Given the description of an element on the screen output the (x, y) to click on. 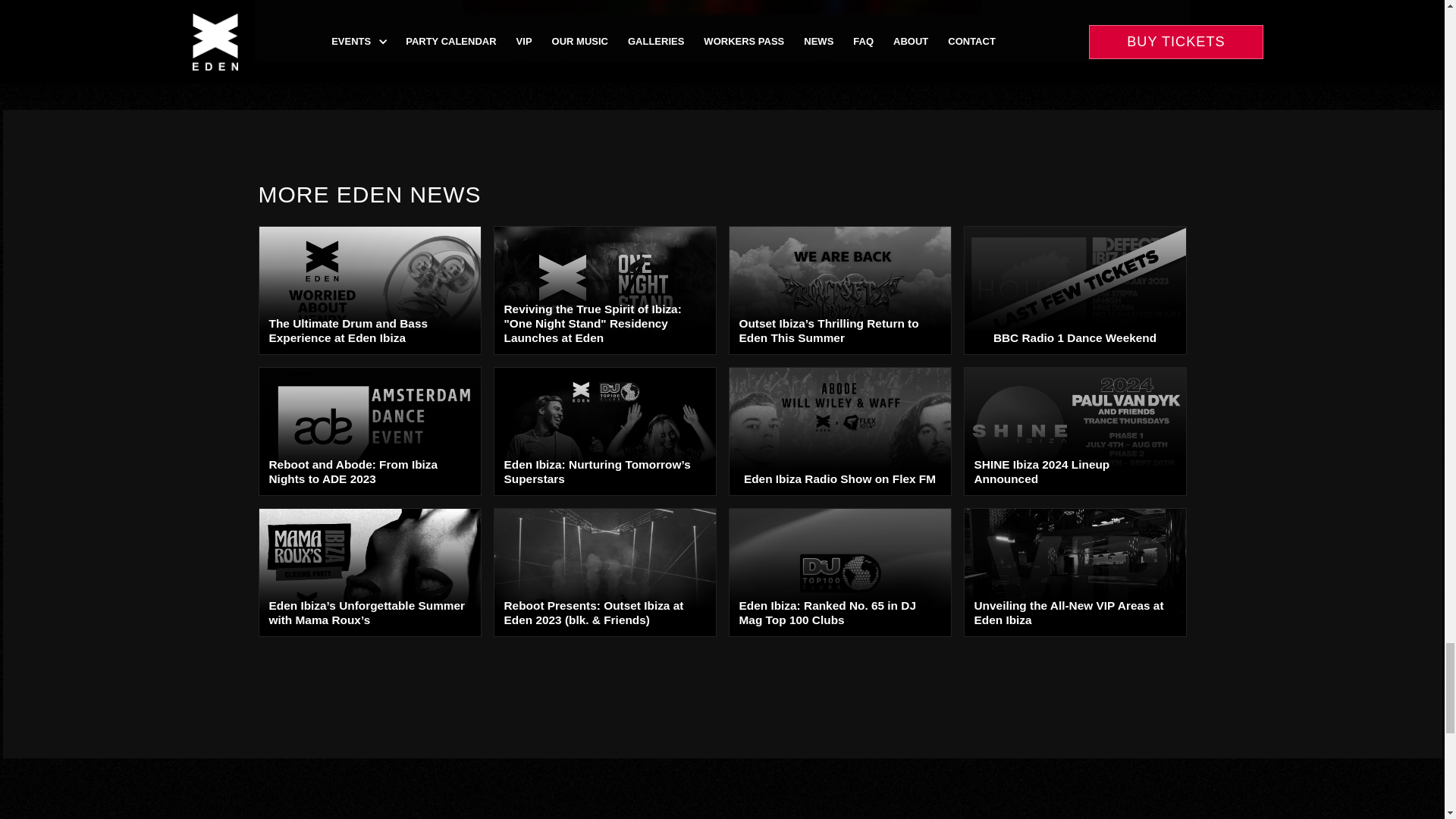
Eden Ibiza: Ranked No. 65 in DJ Mag Top 100 Clubs (839, 572)
The Ultimate Drum and Bass Experience at Eden Ibiza (368, 290)
Eden Ibiza Radio Show on Flex FM (839, 431)
BBC Radio 1 Dance Weekend (1074, 290)
Reboot and Abode: From Ibiza Nights to ADE 2023 (368, 431)
SHINE Ibiza 2024 Lineup Announced (1074, 431)
